Given the description of an element on the screen output the (x, y) to click on. 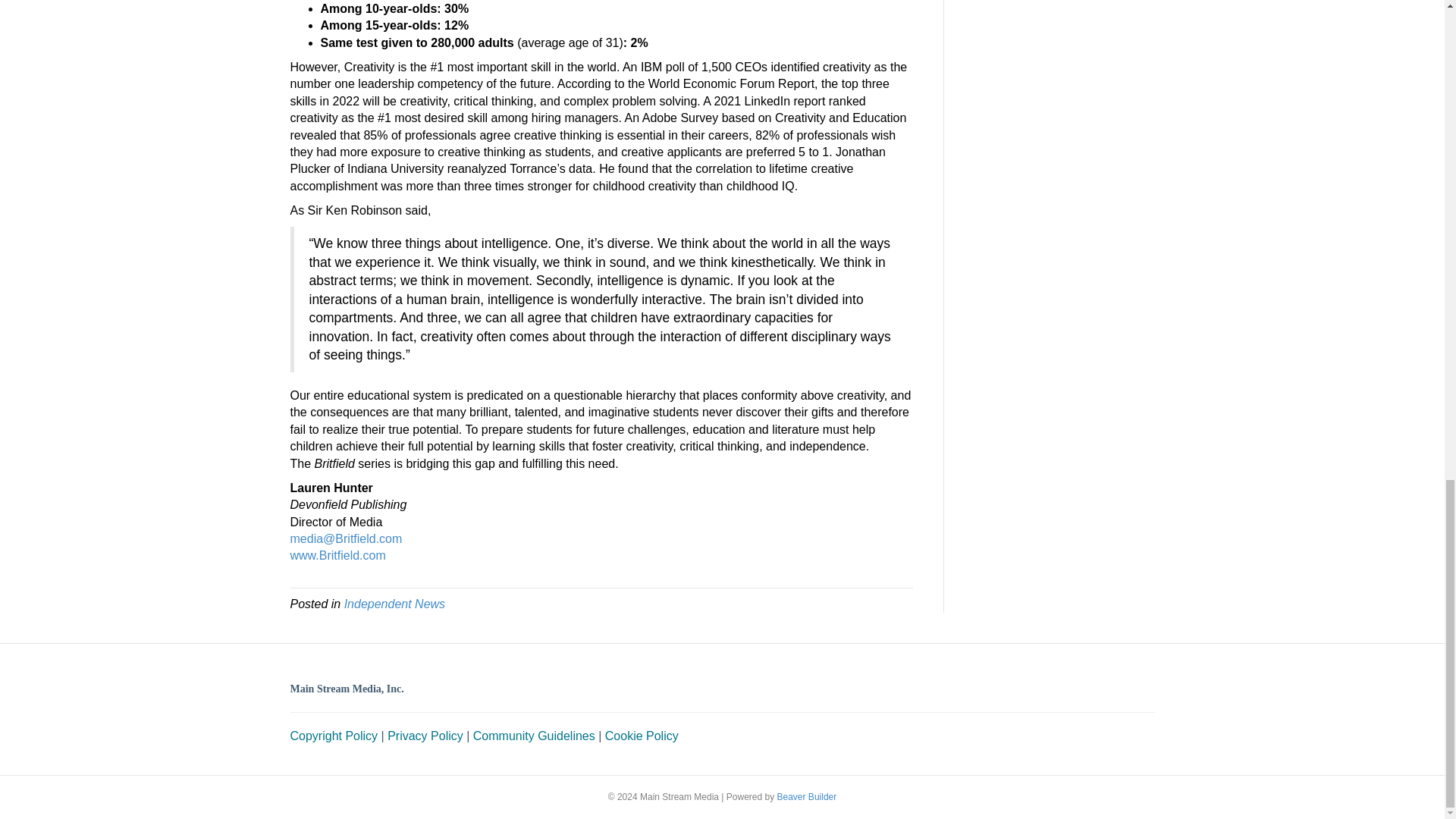
www.Britfield.com (337, 554)
Independent News (394, 603)
WordPress Page Builder Plugin (807, 796)
Copyright Policy (333, 735)
Community Guidelines (534, 735)
Privacy Policy (425, 735)
Cookie Policy (641, 735)
Beaver Builder (807, 796)
